Given the description of an element on the screen output the (x, y) to click on. 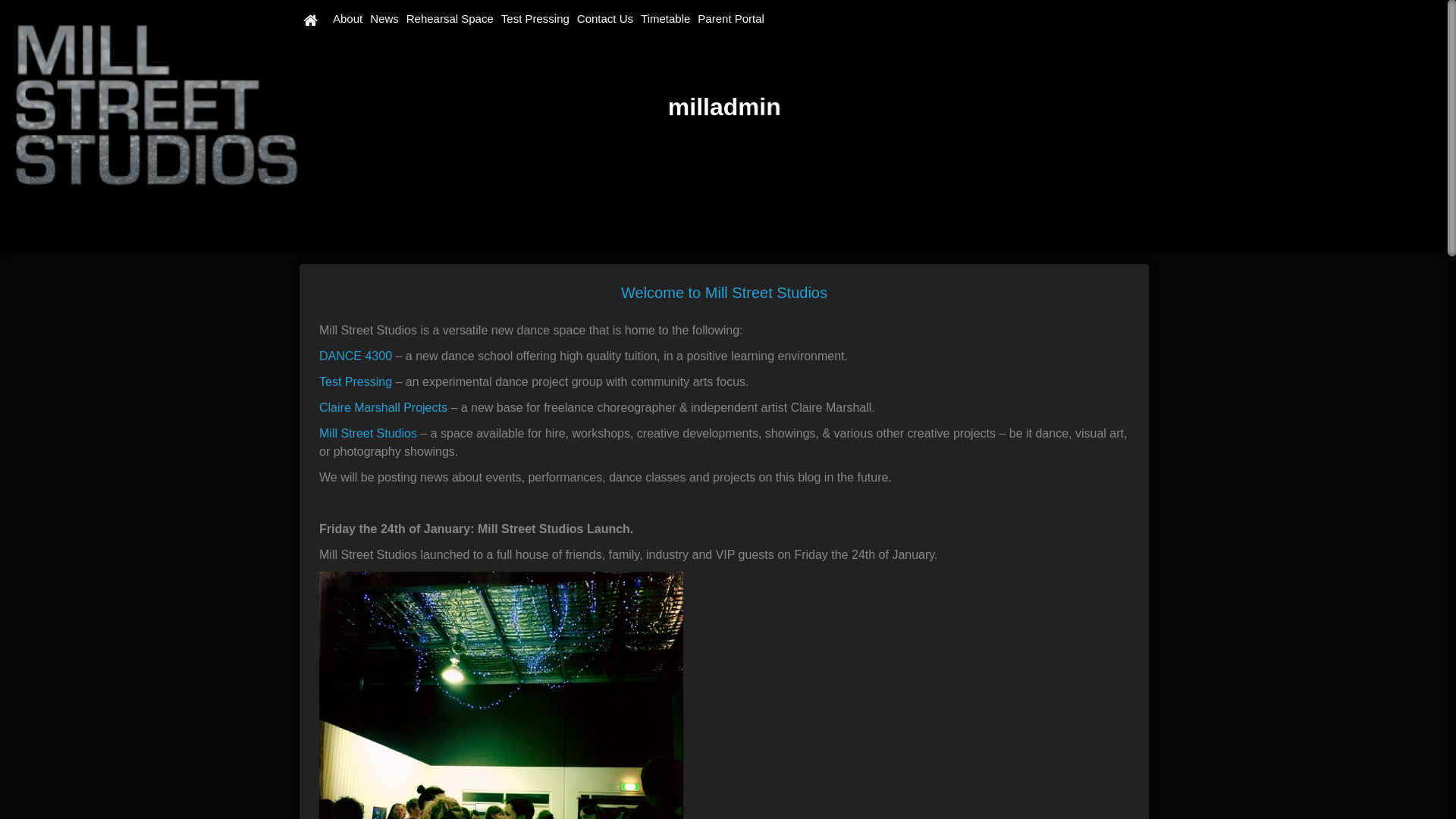
Rehearsal Space Element type: text (449, 18)
DANCE 4300 Element type: text (355, 355)
Test Pressing Element type: text (355, 381)
About Element type: text (347, 18)
News Element type: text (384, 18)
Parent Portal Element type: text (730, 18)
Test Pressing Element type: text (535, 18)
Contact Us Element type: text (605, 18)
Timetable Element type: text (665, 18)
Claire Marshall Projects Element type: text (383, 407)
Mill Street Studios Element type: text (368, 432)
Welcome to Mill Street Studios Element type: text (724, 292)
Welcome to Mill Street Studios Element type: hover (724, 126)
